Given the description of an element on the screen output the (x, y) to click on. 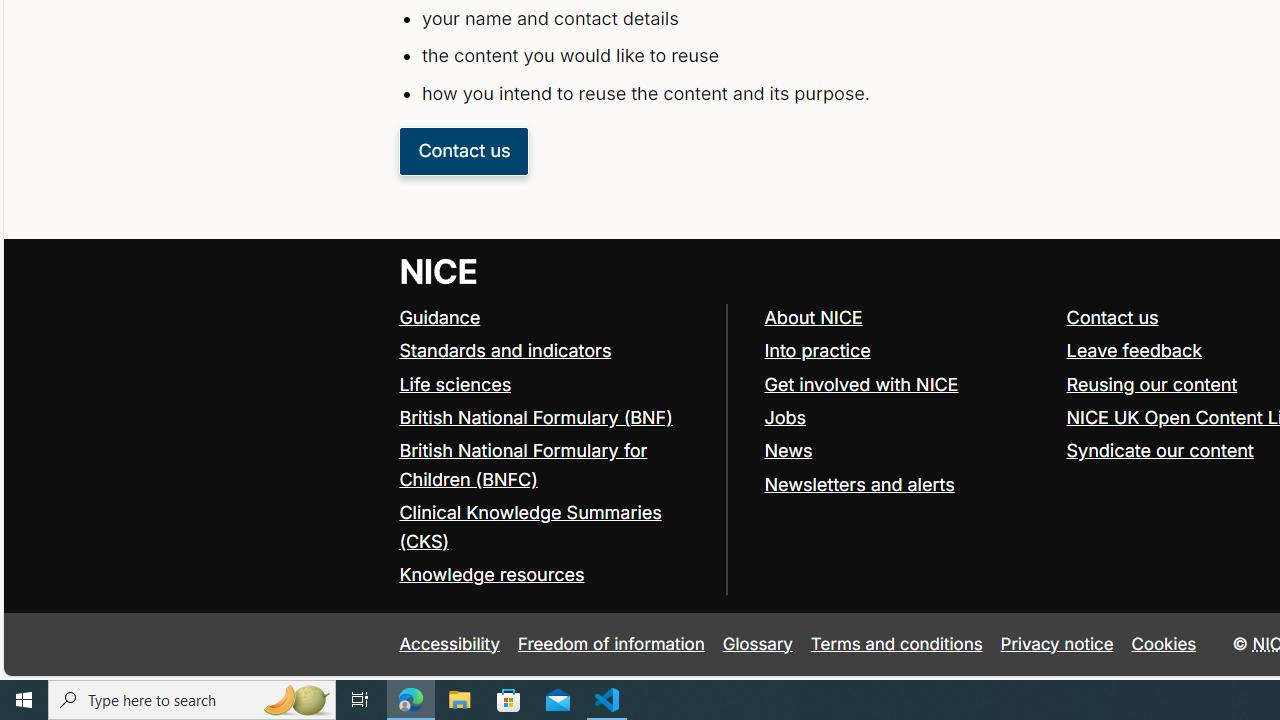
Jobs (906, 417)
